Given the description of an element on the screen output the (x, y) to click on. 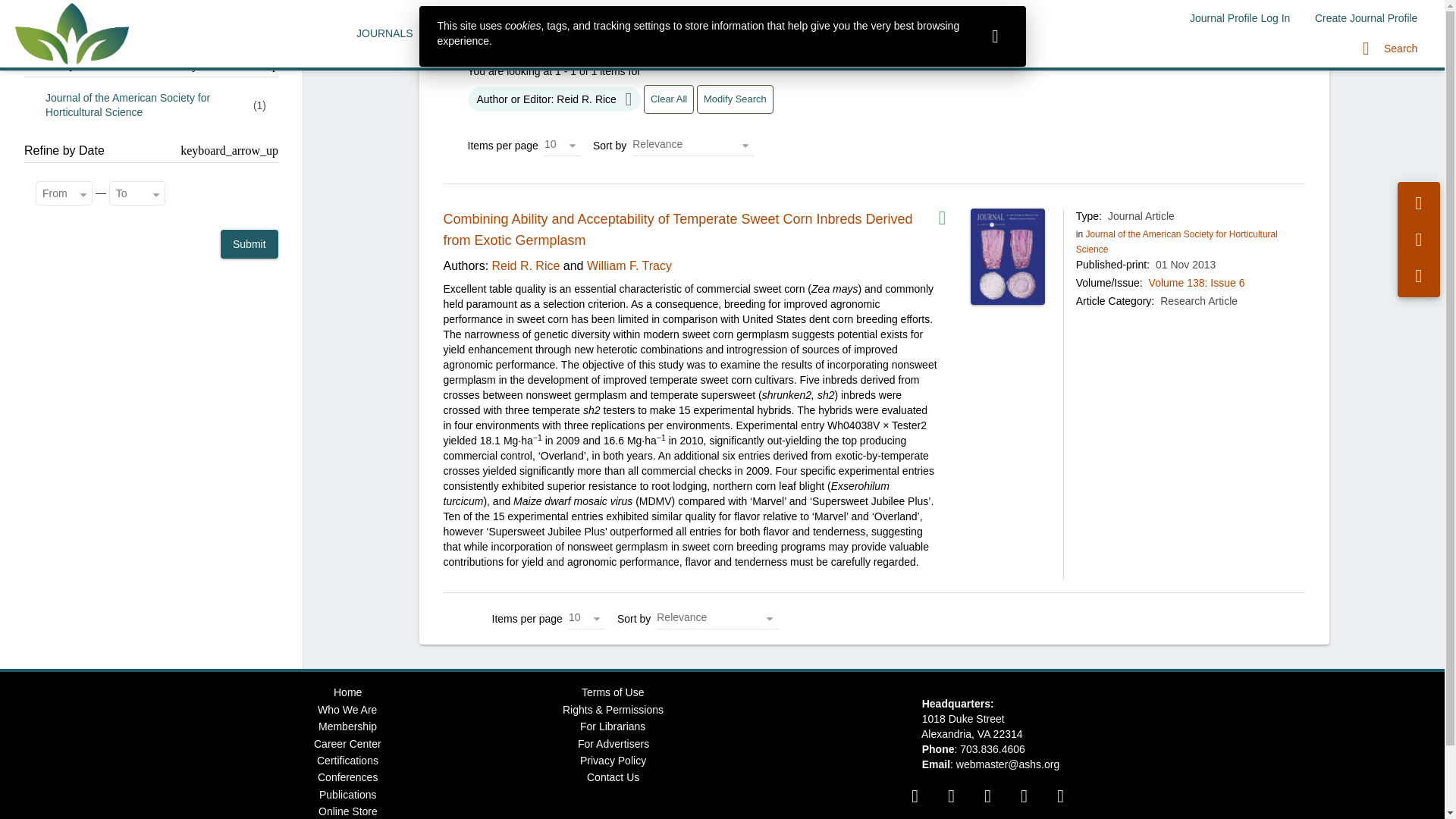
ABOUT ASHS (855, 32)
AUTHOR INFORMATION (497, 32)
Dismiss this warning (994, 36)
Journal Profile Log In (1239, 18)
STORE (932, 32)
Create Journal Profile (1366, 18)
Search (1390, 48)
ADVERTISERS (672, 32)
Jump to Content (40, 8)
ABOUT ASHS (855, 32)
